Given the description of an element on the screen output the (x, y) to click on. 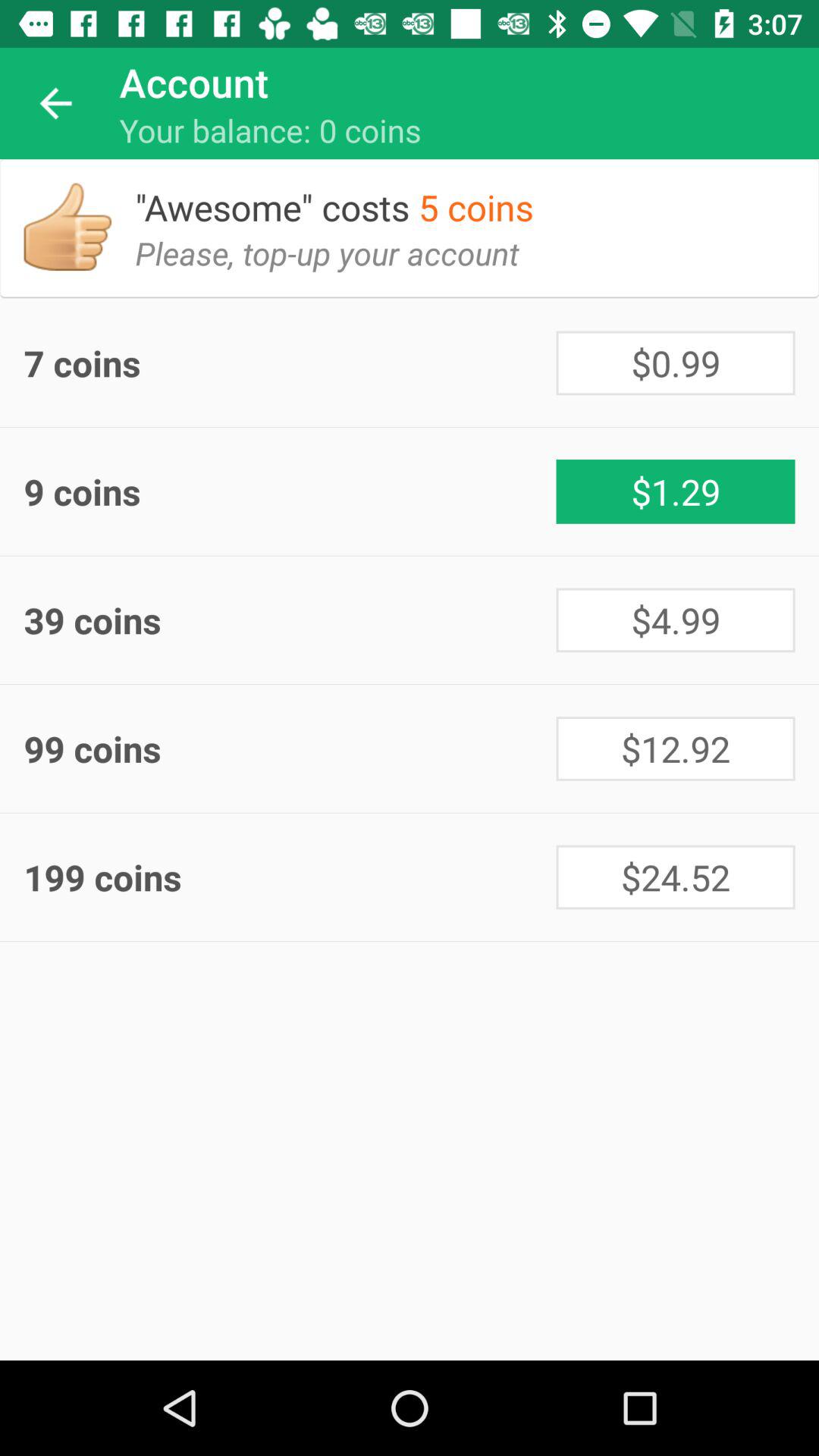
turn on the item above the 99 coins item (289, 620)
